Given the description of an element on the screen output the (x, y) to click on. 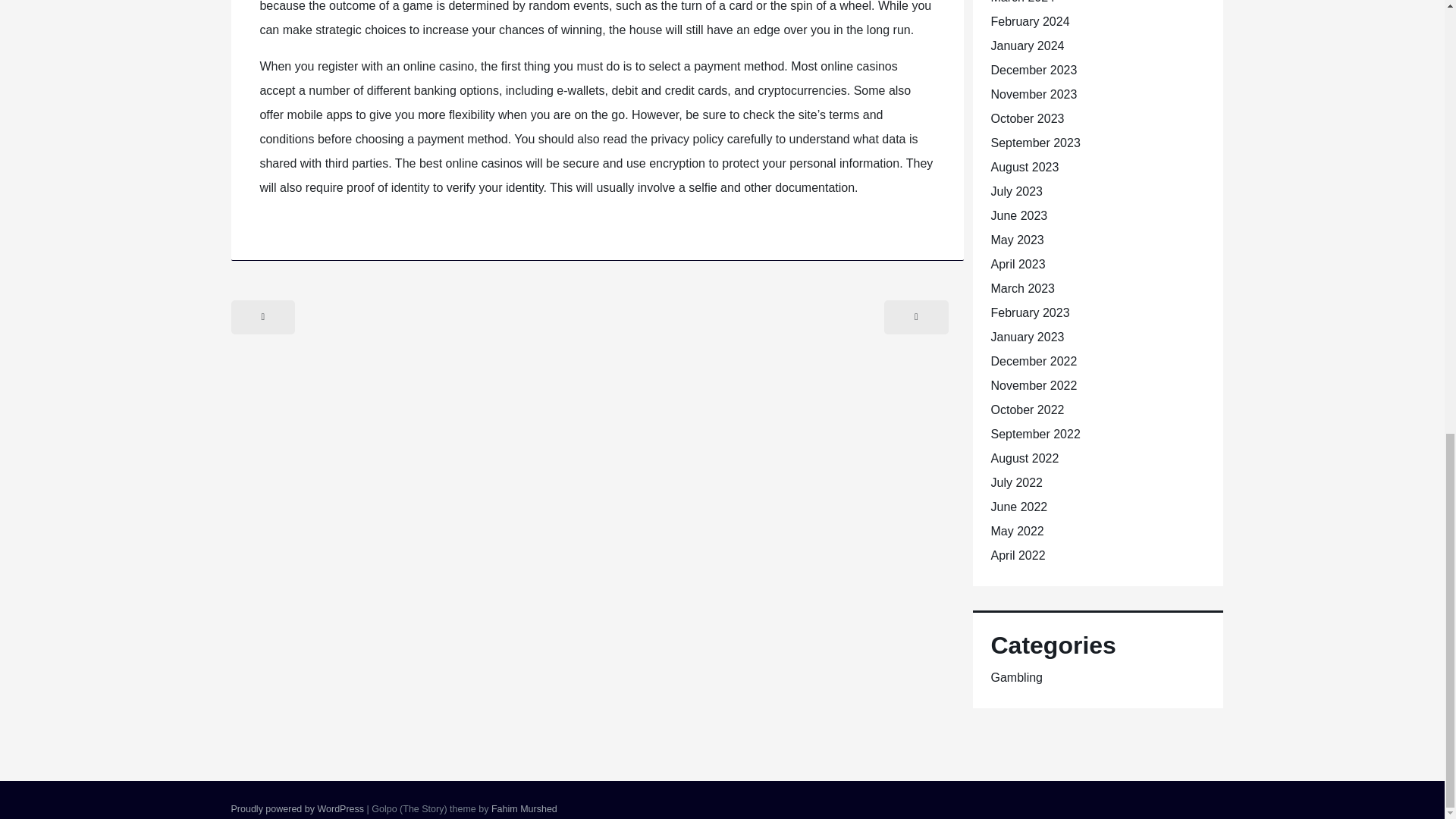
April 2023 (1017, 264)
September 2022 (1035, 433)
August 2023 (1024, 166)
July 2022 (1016, 481)
October 2022 (1027, 409)
February 2023 (1029, 312)
January 2023 (1027, 336)
November 2022 (1033, 385)
August 2022 (1024, 458)
November 2023 (1033, 93)
September 2023 (1035, 142)
June 2022 (1018, 506)
March 2023 (1022, 287)
May 2022 (1016, 530)
December 2022 (1033, 360)
